Given the description of an element on the screen output the (x, y) to click on. 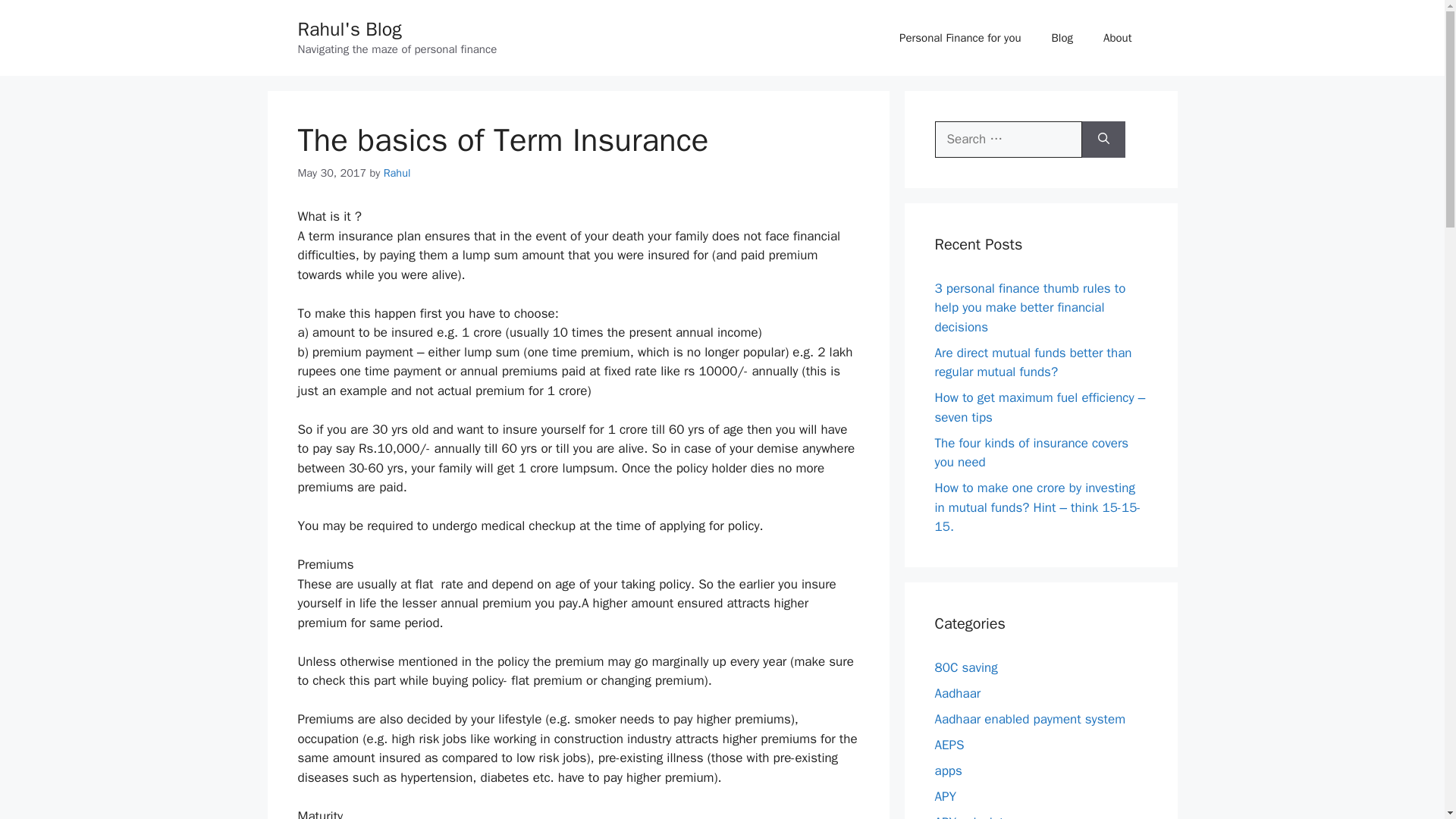
The four kinds of insurance covers you need (1031, 452)
Rahul (397, 172)
Aadhaar (956, 693)
Rahul's Blog (349, 28)
80C saving (965, 667)
Personal Finance for you (959, 37)
APY (945, 796)
About (1117, 37)
Blog (1061, 37)
